Given the description of an element on the screen output the (x, y) to click on. 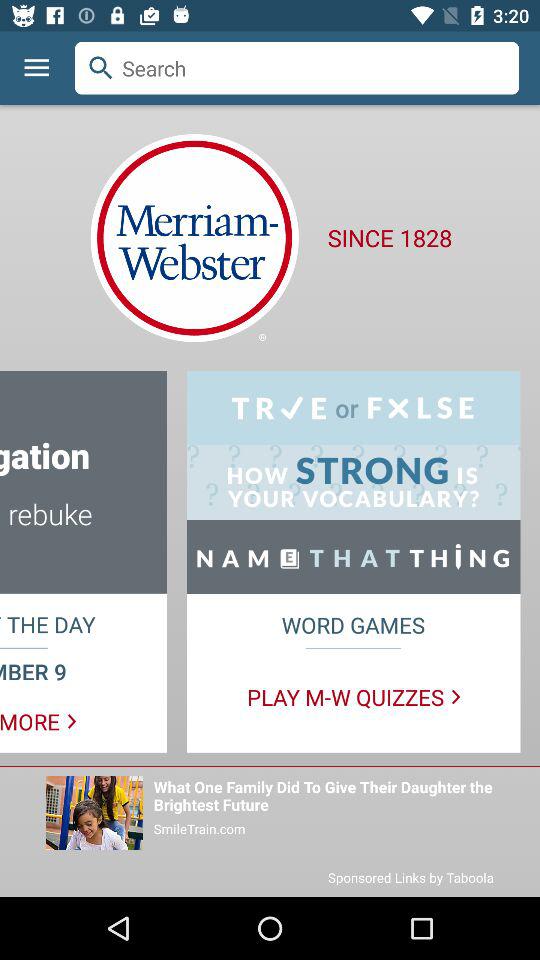
select the last picture in the image (94, 812)
select the logo which is below the search bar (194, 238)
